Given the description of an element on the screen output the (x, y) to click on. 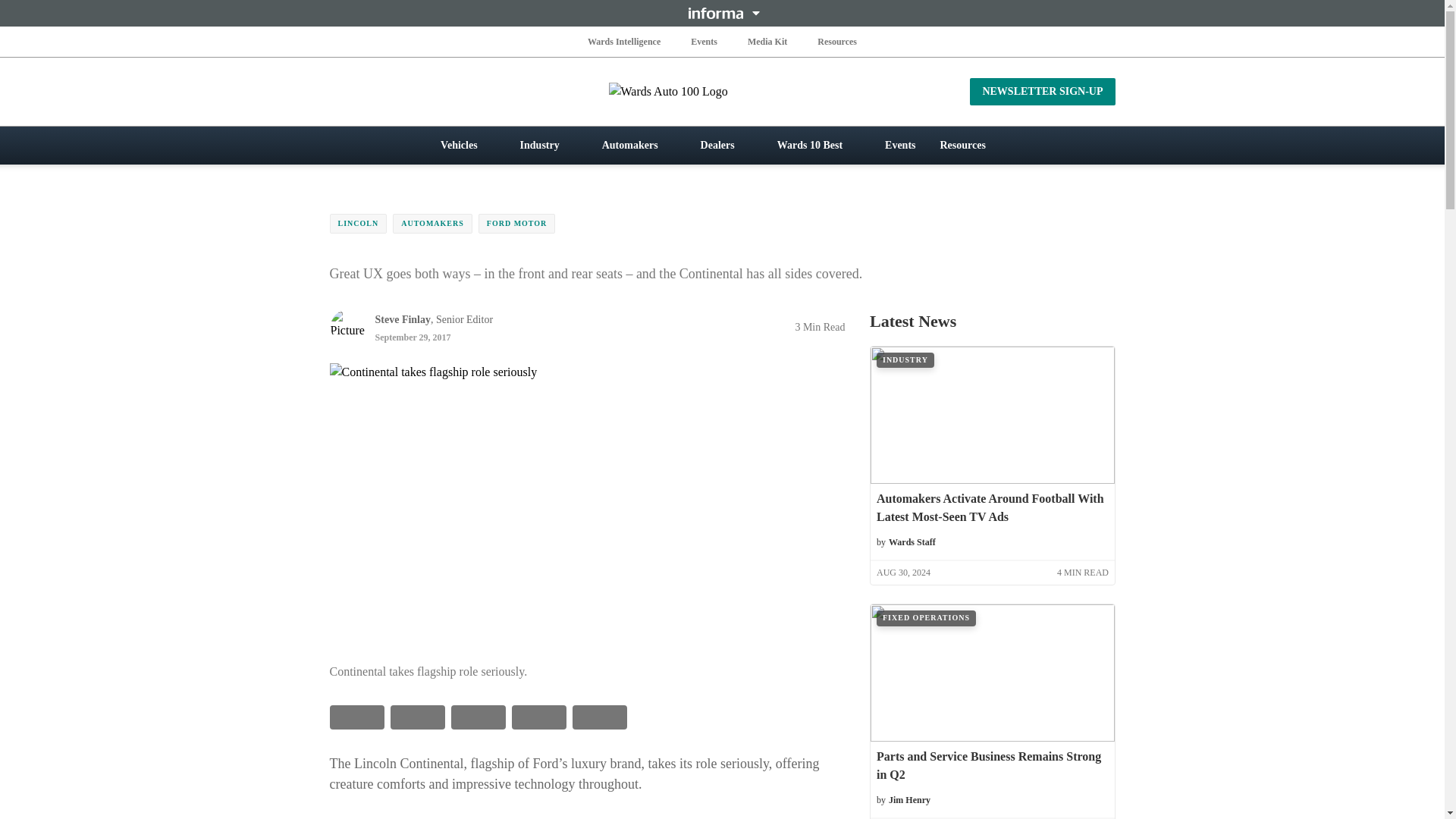
Resources (836, 41)
Events (703, 41)
Media Kit (767, 41)
Wards Intelligence (624, 41)
Wards Auto 100 Logo (721, 91)
NEWSLETTER SIGN-UP (1042, 90)
Picture of Steve Finlay (347, 326)
